Given the description of an element on the screen output the (x, y) to click on. 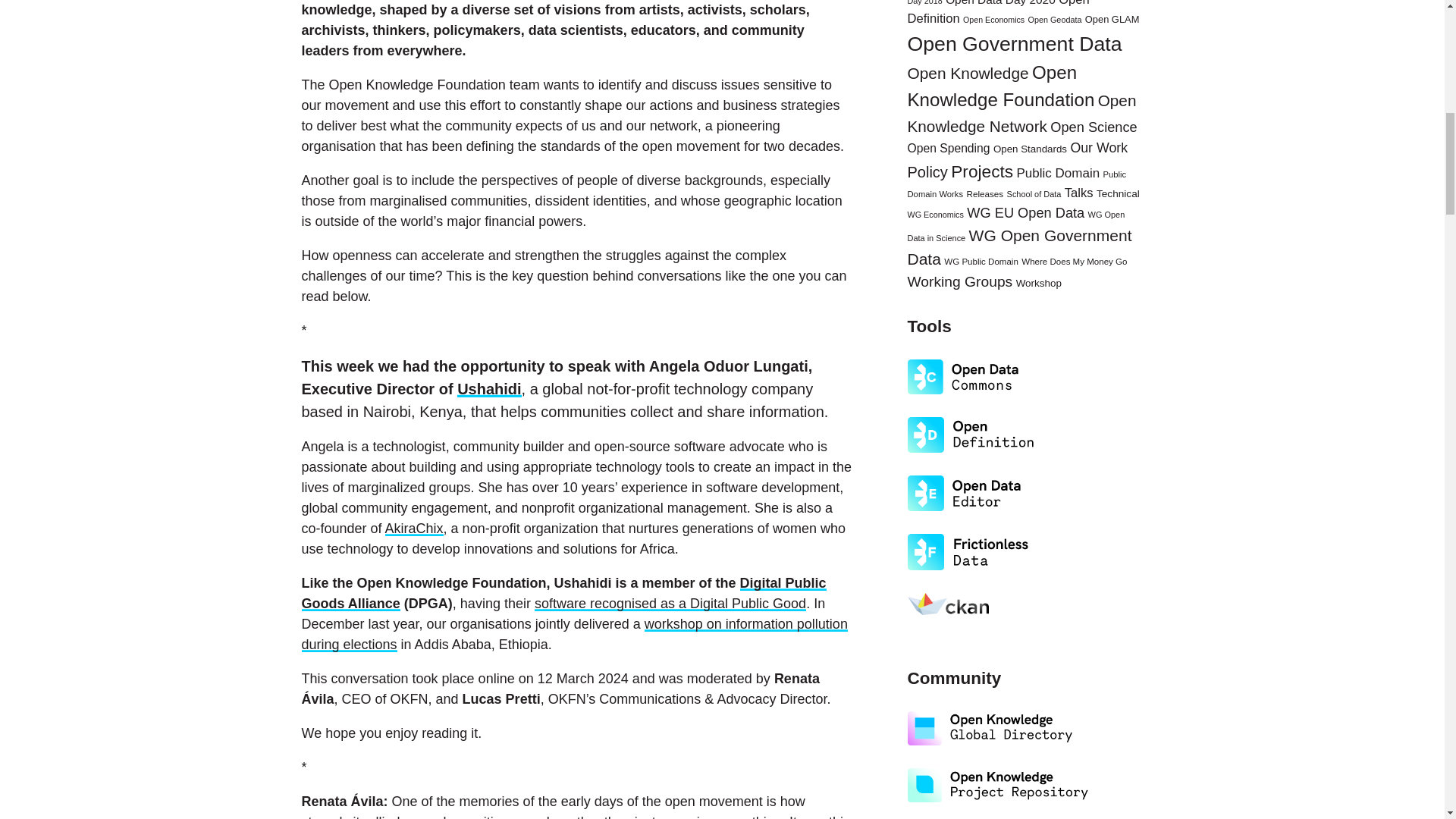
workshop on information pollution during elections (574, 633)
Ushahidi (489, 388)
software recognised as a Digital Public Good (670, 603)
Digital Public Goods Alliance (564, 592)
AkiraChix (414, 528)
